Given the description of an element on the screen output the (x, y) to click on. 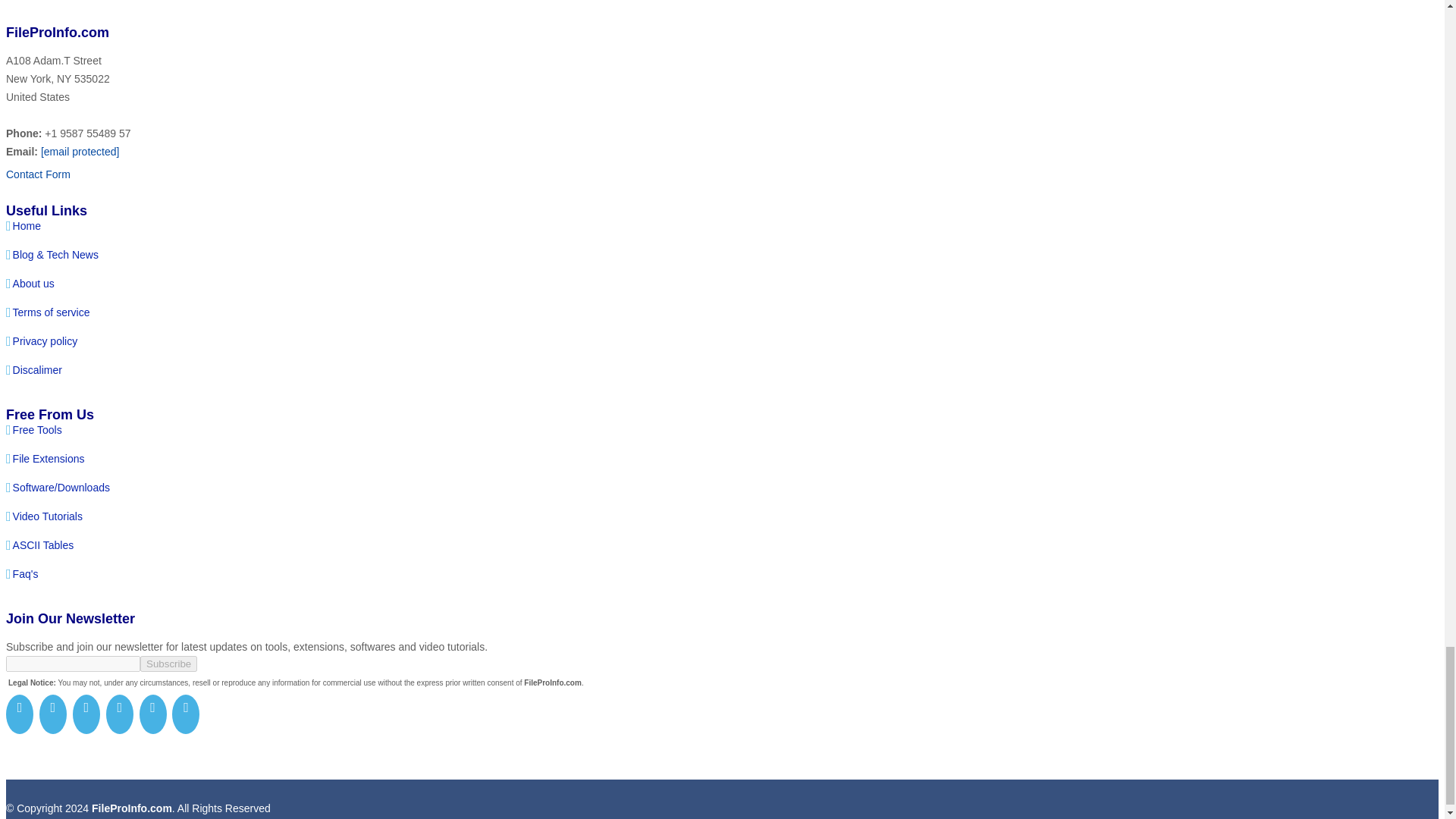
Subscribe (167, 663)
